Given the description of an element on the screen output the (x, y) to click on. 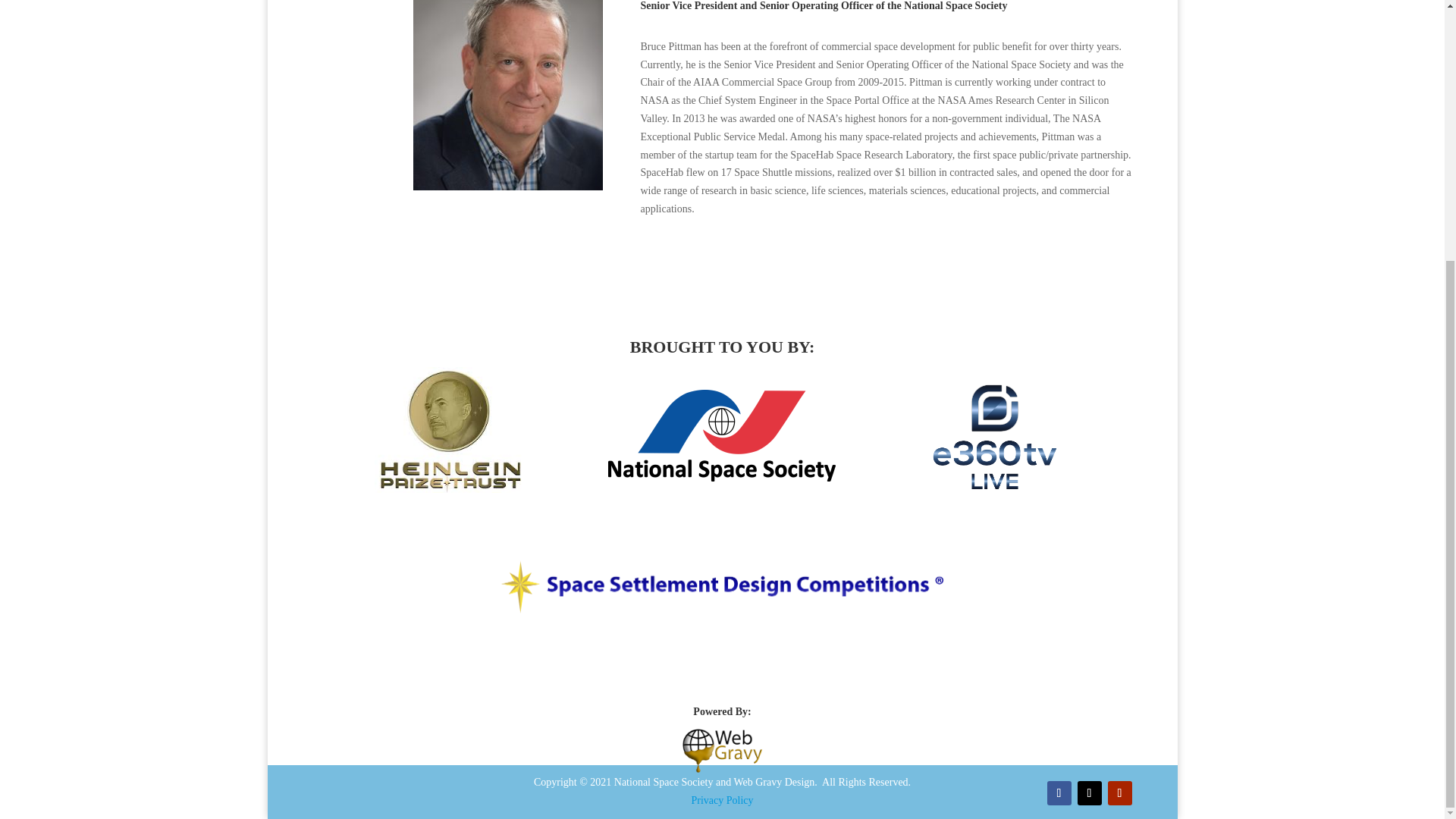
e360 tv-01-01 (995, 437)
Web Gravy Design (722, 748)
Privacy Policy (721, 799)
NSS logo black vC 6-24-18 (721, 435)
Bruce Pittman (507, 95)
Heinlein-Prize-Trust-logo (449, 429)
